Given the description of an element on the screen output the (x, y) to click on. 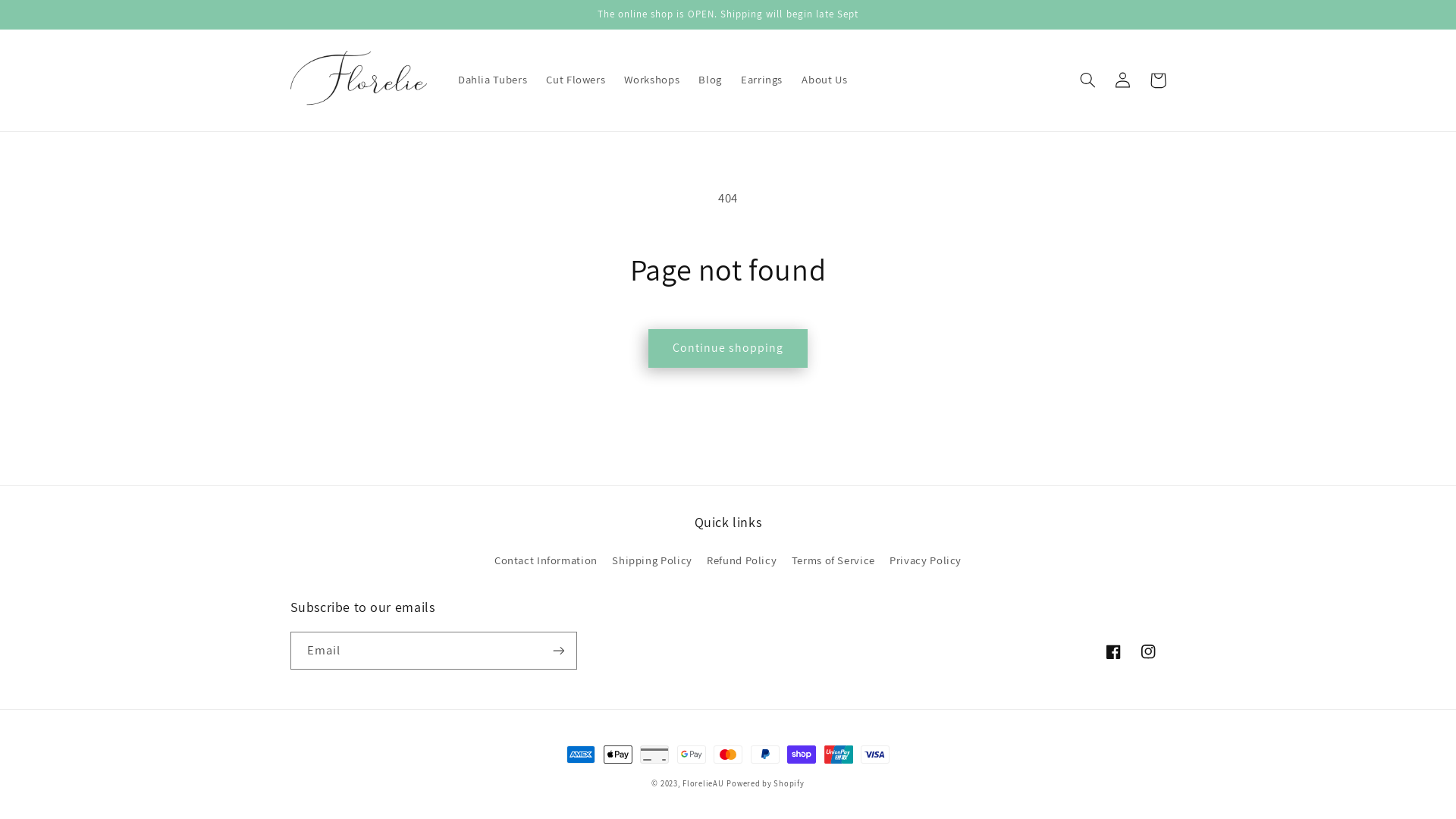
Facebook Element type: text (1112, 650)
FlorelieAU Element type: text (702, 783)
Cut Flowers Element type: text (575, 80)
Contact Information Element type: text (545, 562)
Log in Element type: text (1122, 79)
Workshops Element type: text (652, 80)
Earrings Element type: text (761, 80)
Dahlia Tubers Element type: text (492, 80)
Powered by Shopify Element type: text (764, 783)
Refund Policy Element type: text (741, 560)
Continue shopping Element type: text (727, 348)
Privacy Policy Element type: text (925, 560)
Shipping Policy Element type: text (651, 560)
Cart Element type: text (1157, 79)
Instagram Element type: text (1147, 650)
Terms of Service Element type: text (833, 560)
About Us Element type: text (824, 80)
Blog Element type: text (710, 80)
